Given the description of an element on the screen output the (x, y) to click on. 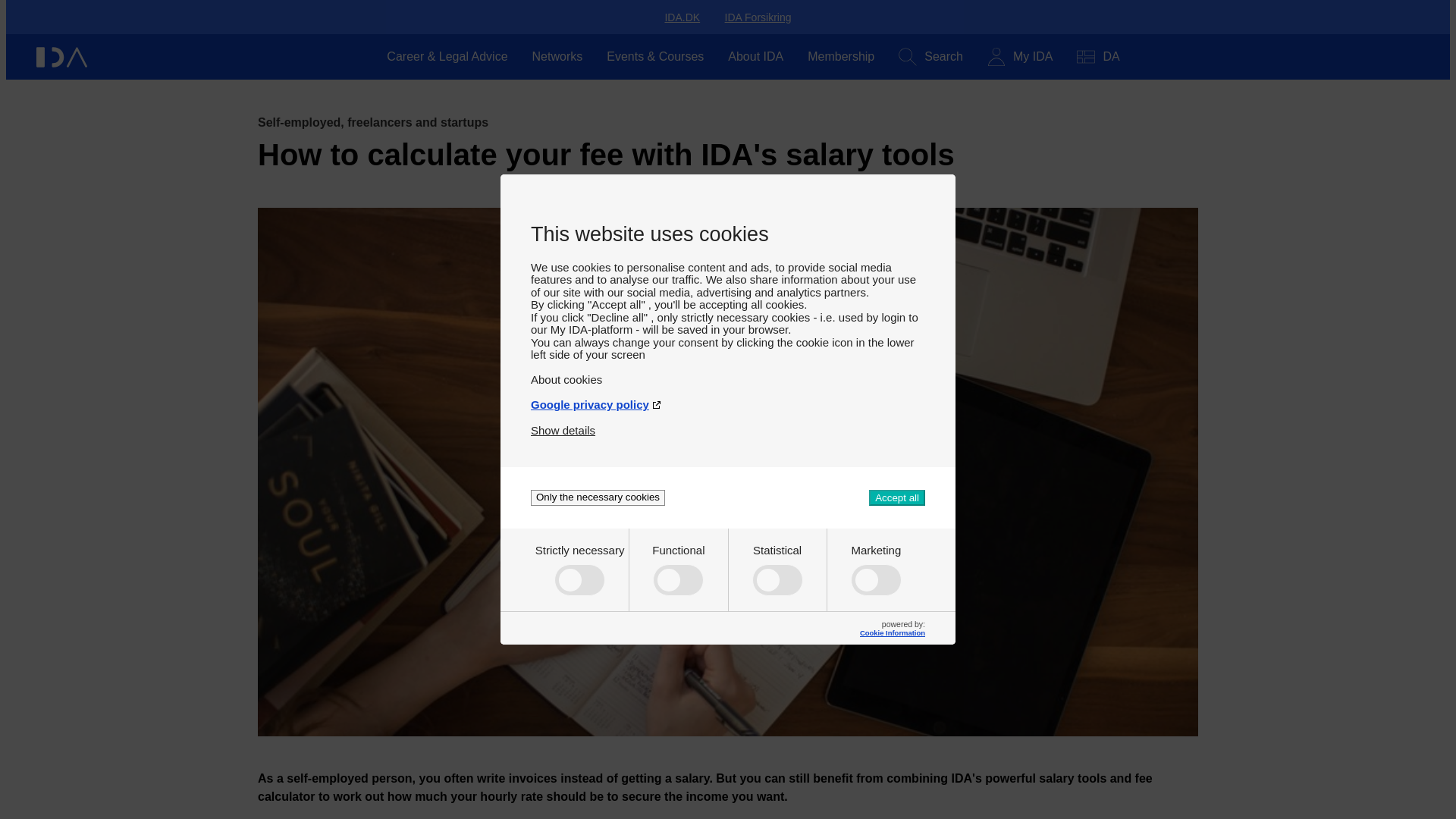
About cookies (727, 373)
Google privacy policy (727, 398)
Show details (563, 423)
